Given the description of an element on the screen output the (x, y) to click on. 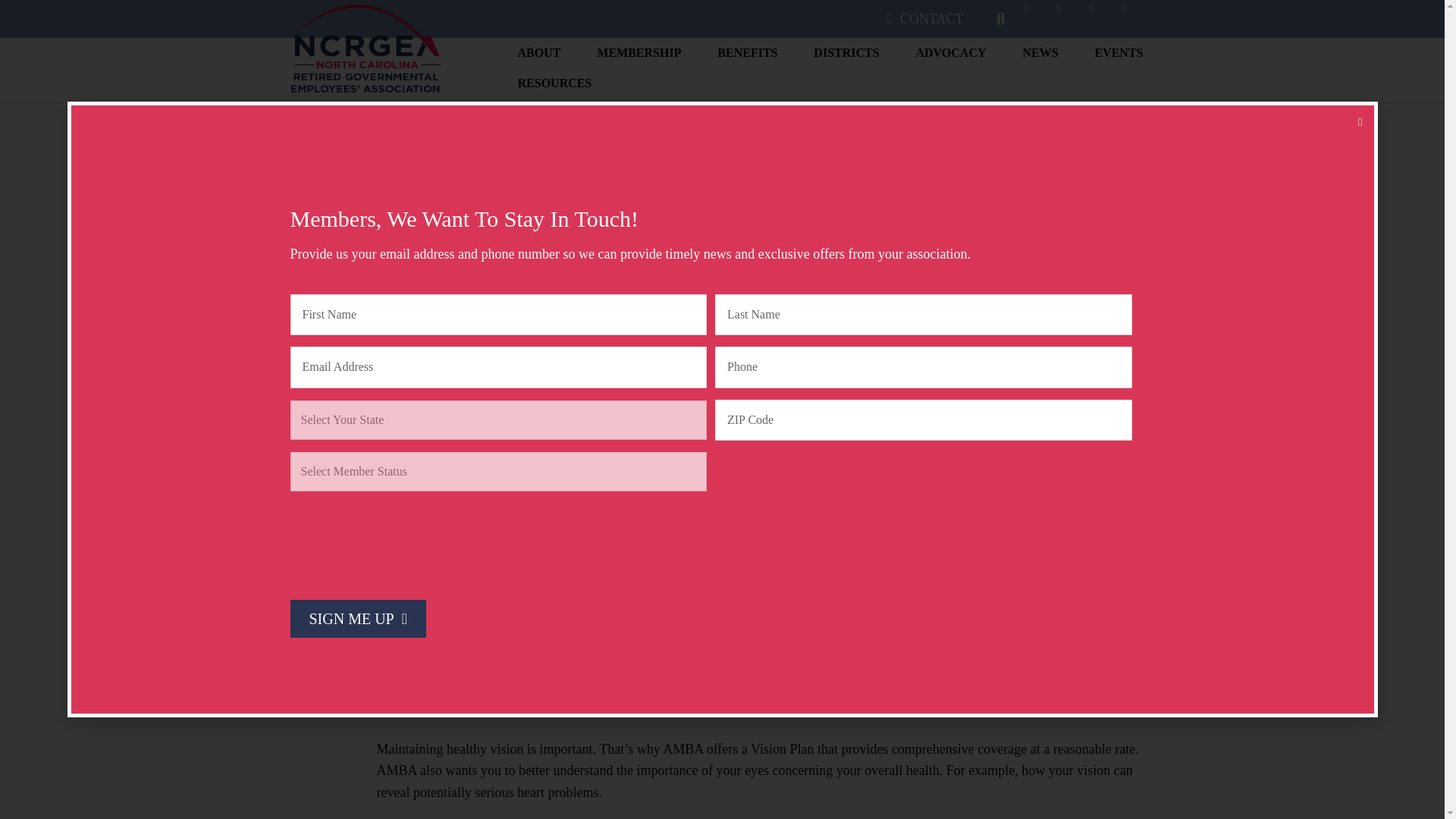
ABOUT (539, 56)
CONTACT (925, 19)
